Given the description of an element on the screen output the (x, y) to click on. 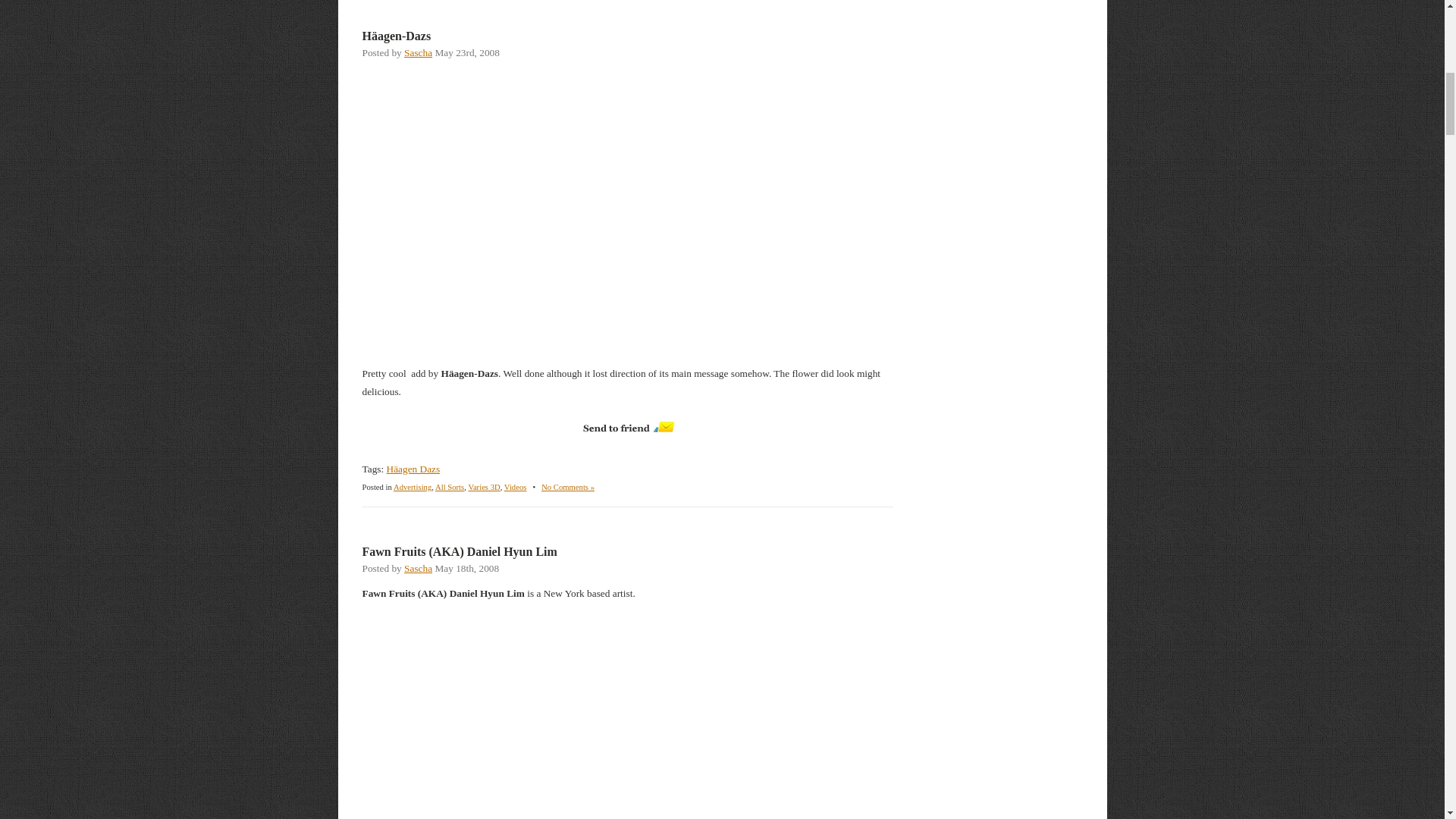
View all posts in Varies 3D (483, 487)
Varies 3D (483, 487)
Videos (515, 487)
All Sorts (449, 487)
Share This Post (627, 426)
Daniel Hyun Lim  (627, 721)
Sascha (418, 568)
Advertising (411, 487)
View all posts in Videos (515, 487)
View all posts in All Sorts (449, 487)
